Given the description of an element on the screen output the (x, y) to click on. 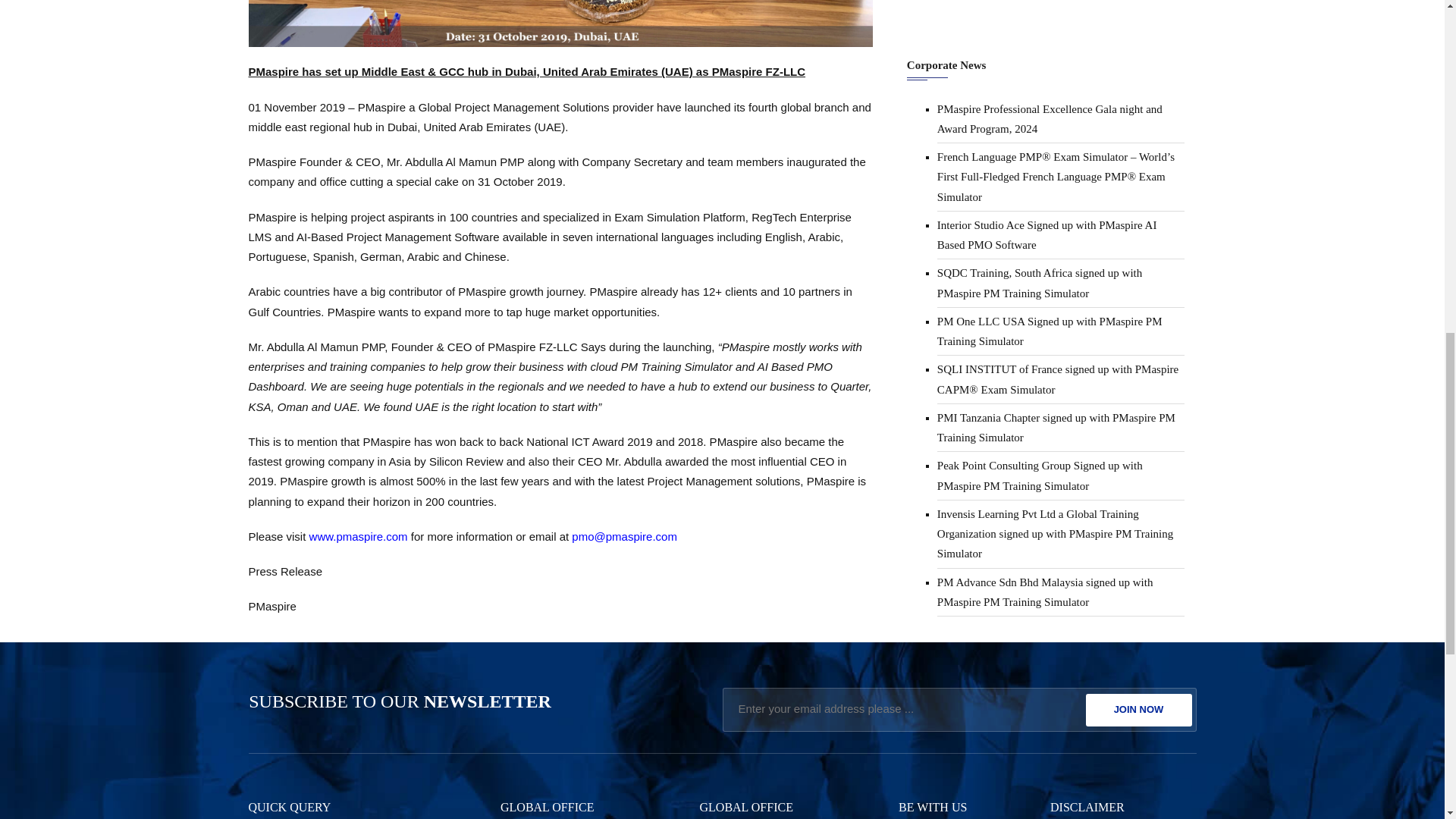
JOIN NOW (1139, 709)
